Given the description of an element on the screen output the (x, y) to click on. 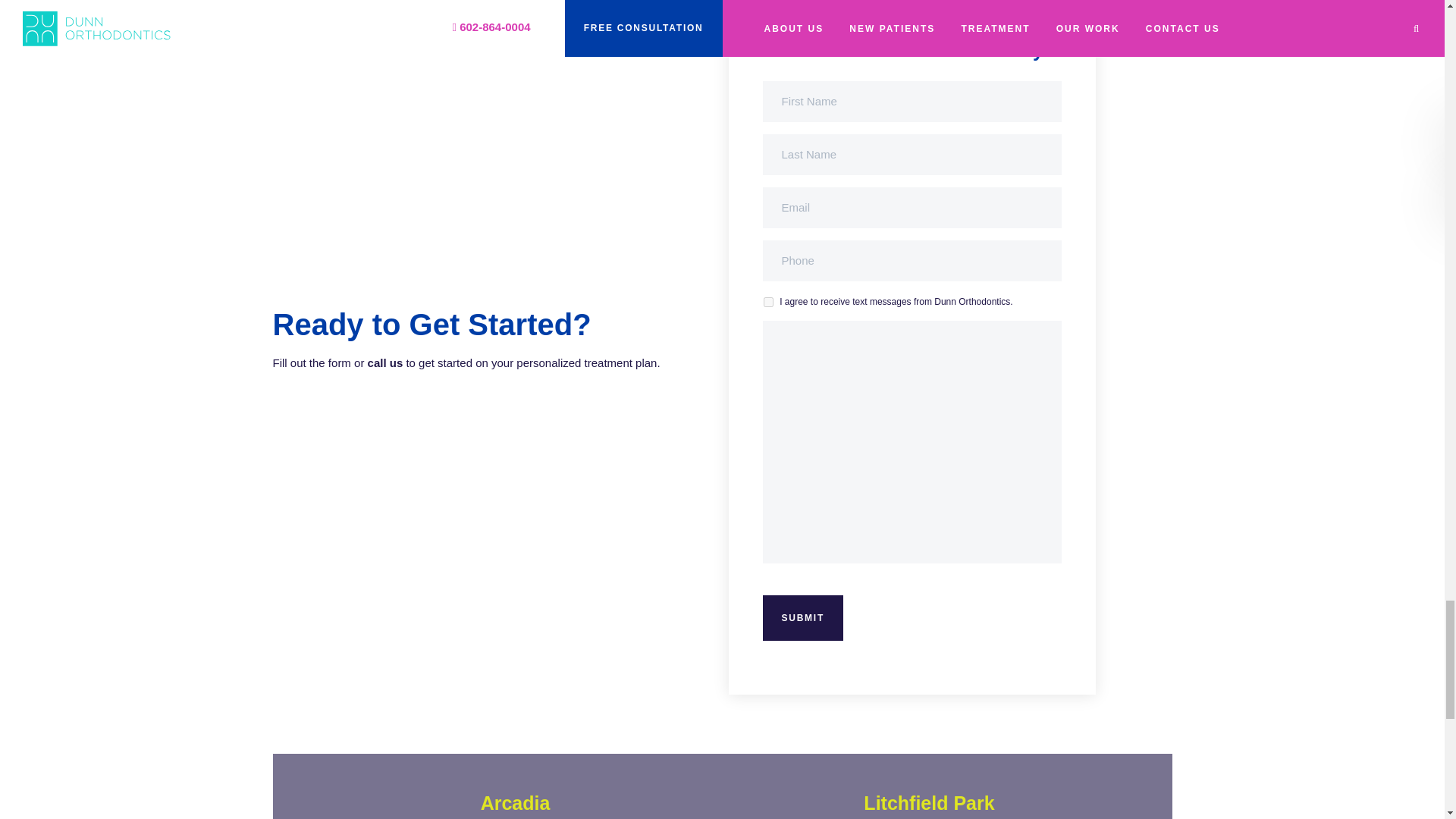
Submit (803, 617)
I agree to receive text messages from Dunn Orthodontics. (767, 302)
